Given the description of an element on the screen output the (x, y) to click on. 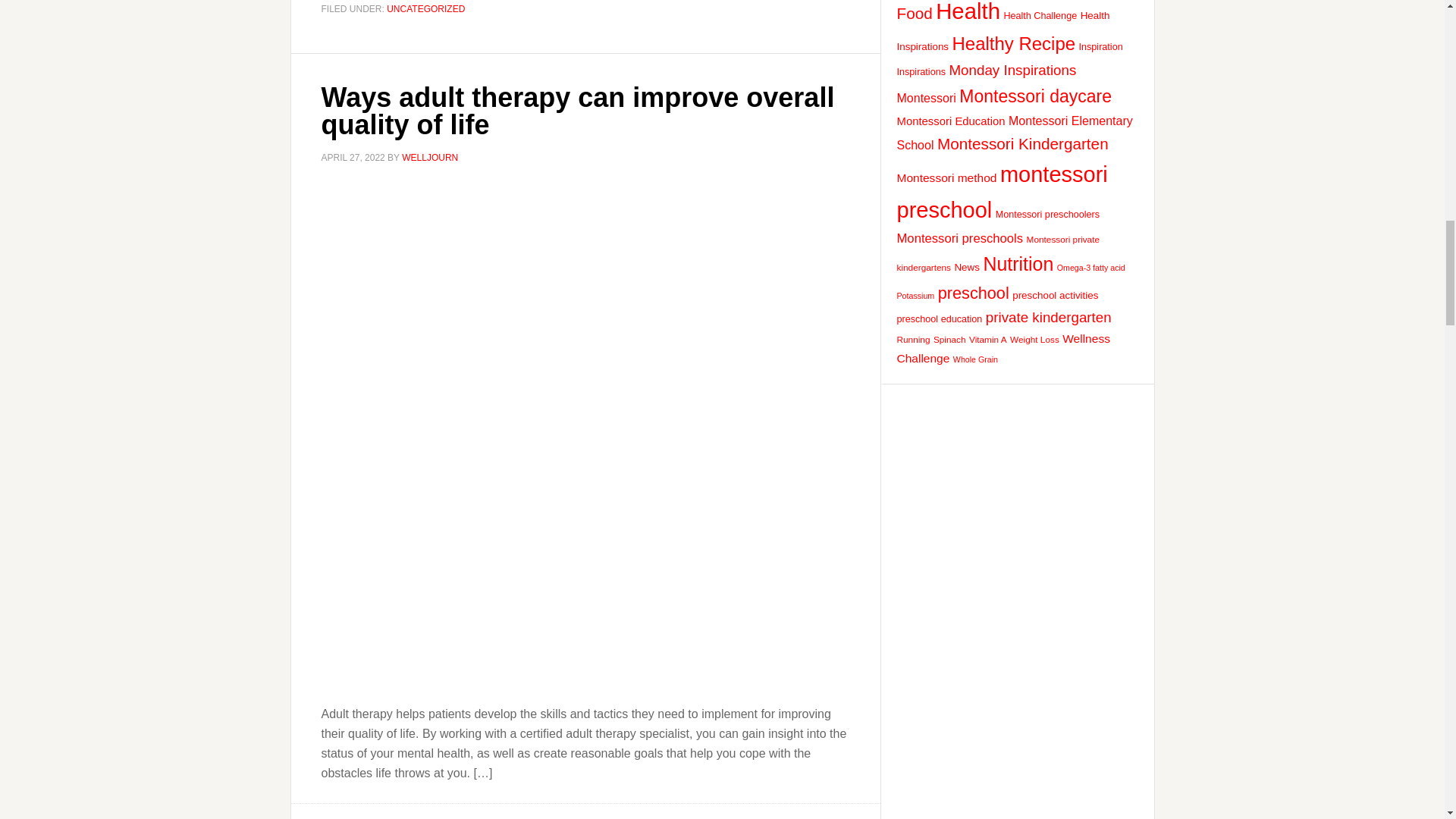
Ways adult therapy can improve overall quality of life (577, 110)
UNCATEGORIZED (425, 9)
WELLJOURN (429, 157)
